Given the description of an element on the screen output the (x, y) to click on. 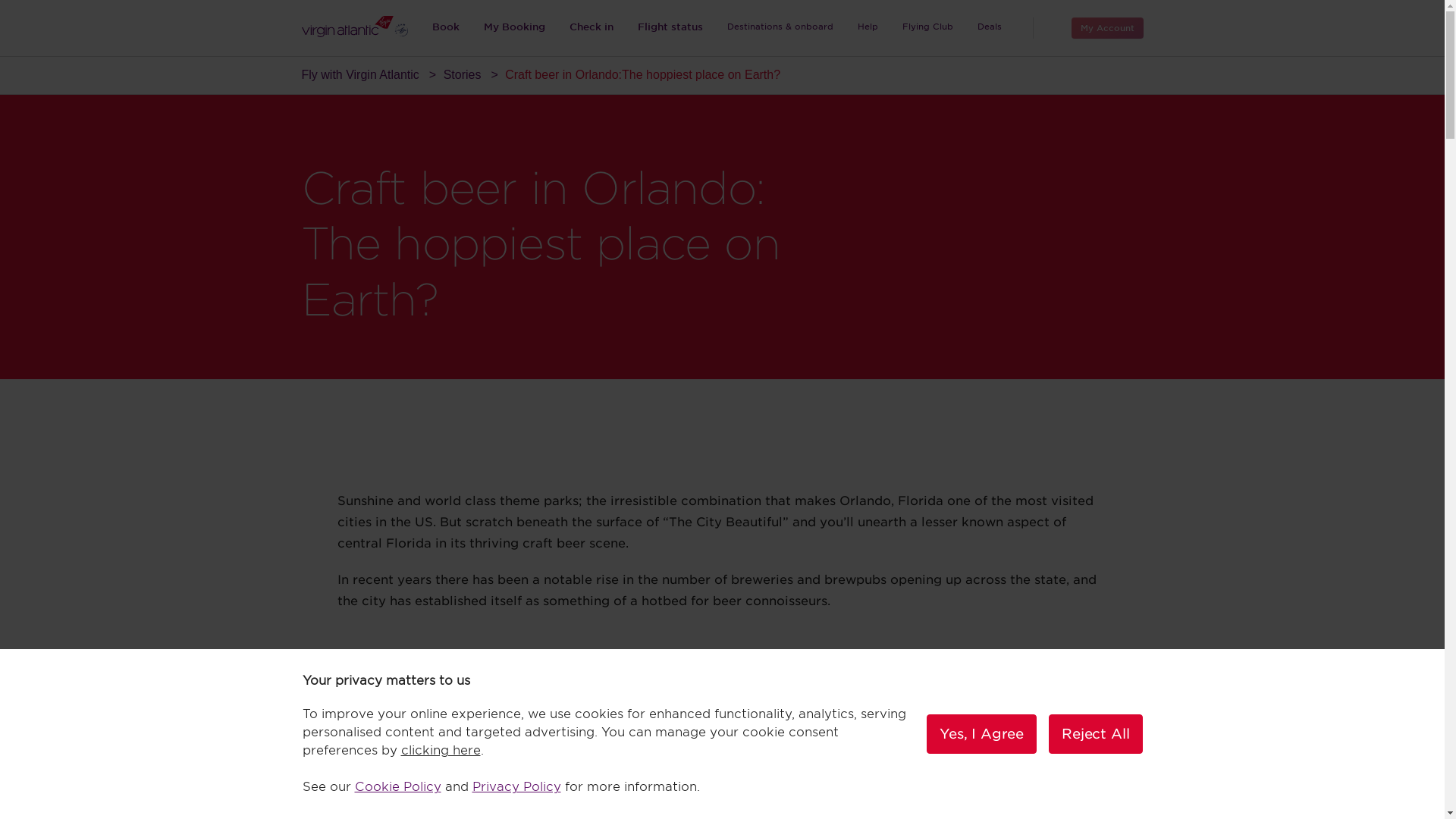
Virgin Atlantic Logo (354, 25)
